Given the description of an element on the screen output the (x, y) to click on. 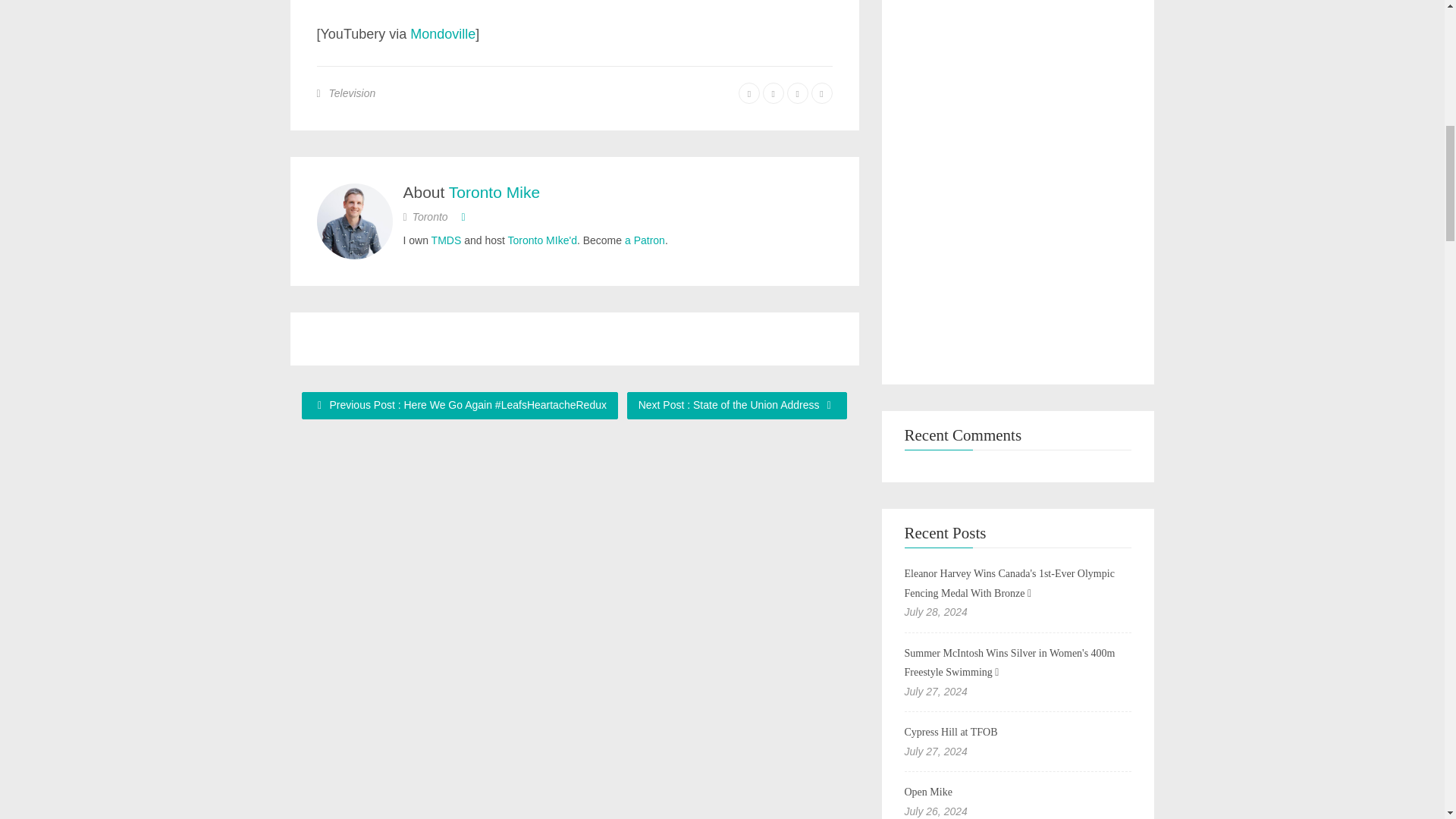
Next Post : State of the Union Address (737, 405)
Television (352, 92)
Cypress Hill at TFOB (950, 731)
TMDS (445, 240)
Open Mike (928, 791)
Toronto MIke'd (542, 240)
a Patron (644, 240)
Mondoville (443, 32)
Toronto Mike (494, 191)
